Given the description of an element on the screen output the (x, y) to click on. 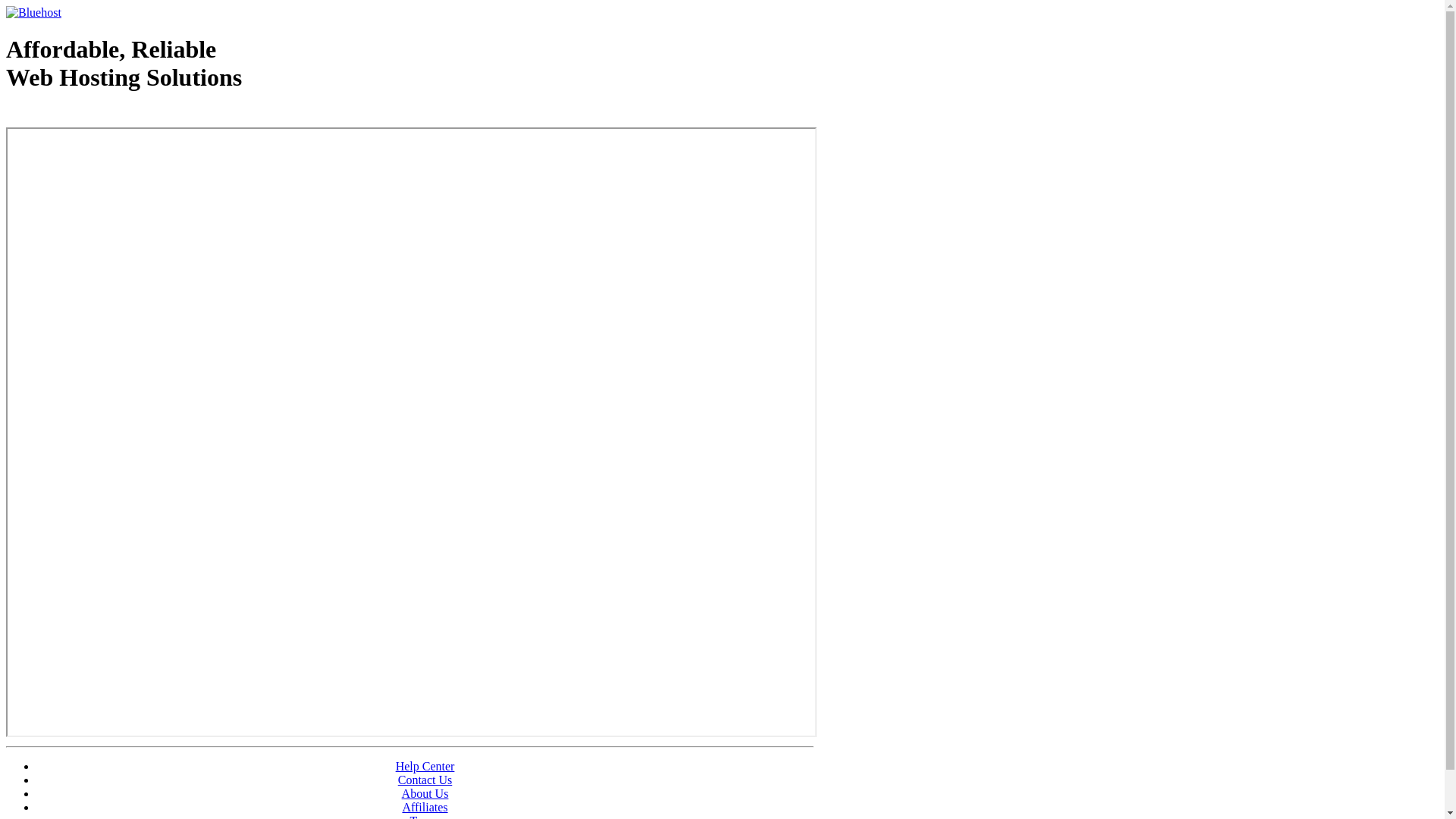
About Us Element type: text (424, 793)
Web Hosting - courtesy of www.bluehost.com Element type: text (94, 115)
Help Center Element type: text (425, 765)
Affiliates Element type: text (424, 806)
Contact Us Element type: text (425, 779)
